Given the description of an element on the screen output the (x, y) to click on. 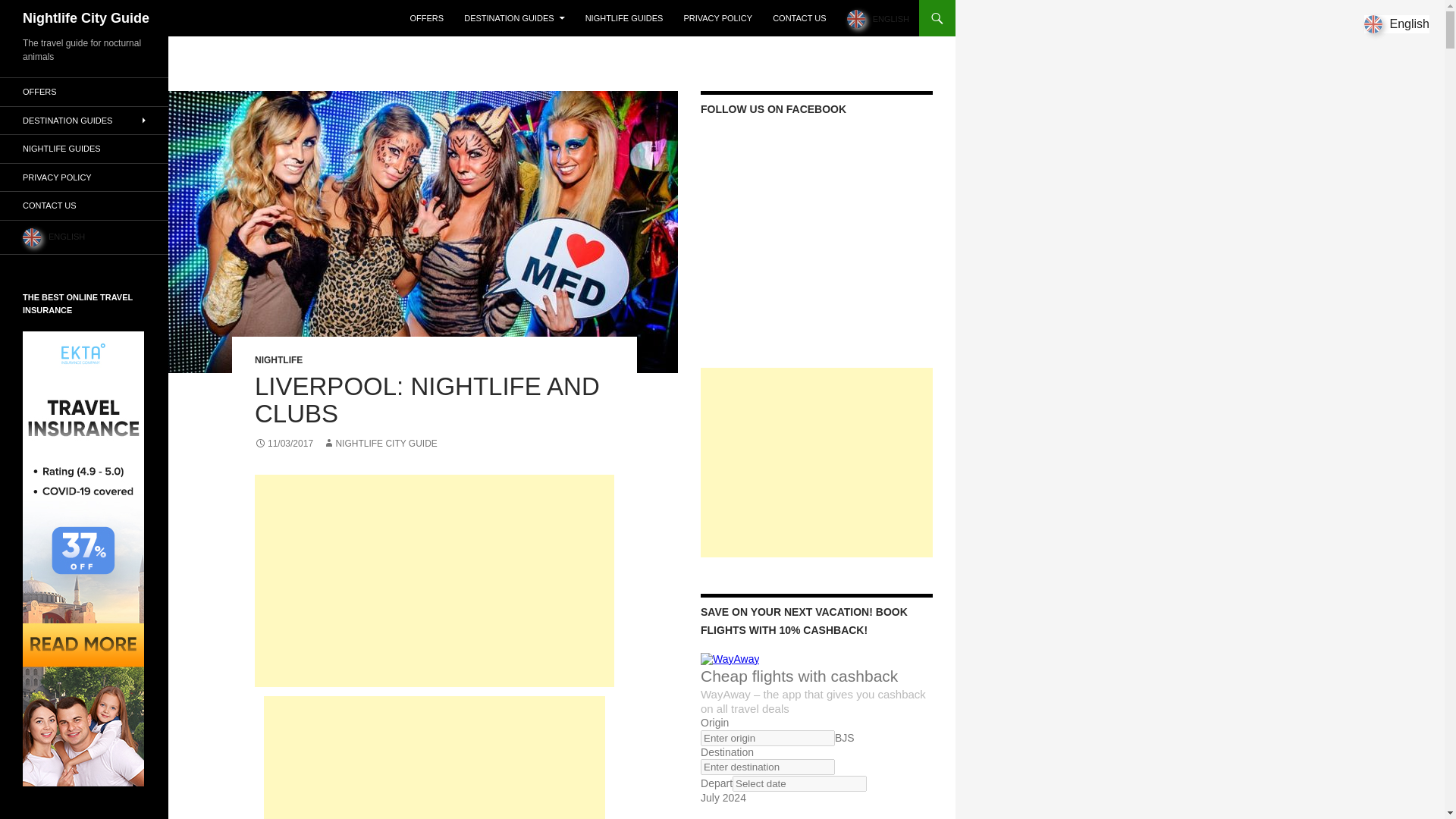
Advertisement (434, 581)
DESTINATION GUIDES (513, 18)
Nightlife City Guide (86, 18)
OFFERS (426, 18)
Advertisement (434, 757)
